Given the description of an element on the screen output the (x, y) to click on. 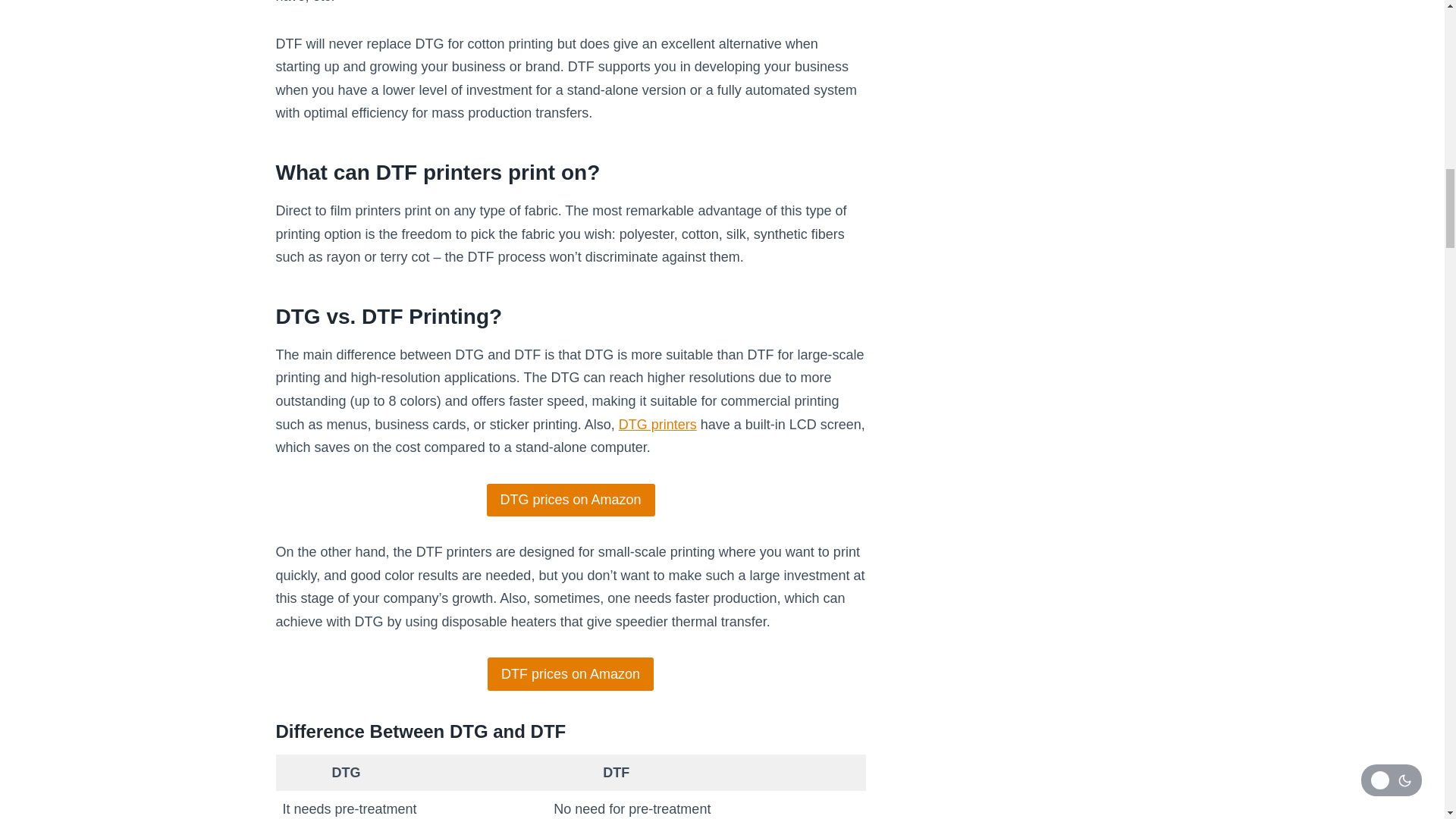
DTG prices on Amazon (570, 500)
DTG printers (657, 424)
DTF prices on Amazon (570, 673)
